Given the description of an element on the screen output the (x, y) to click on. 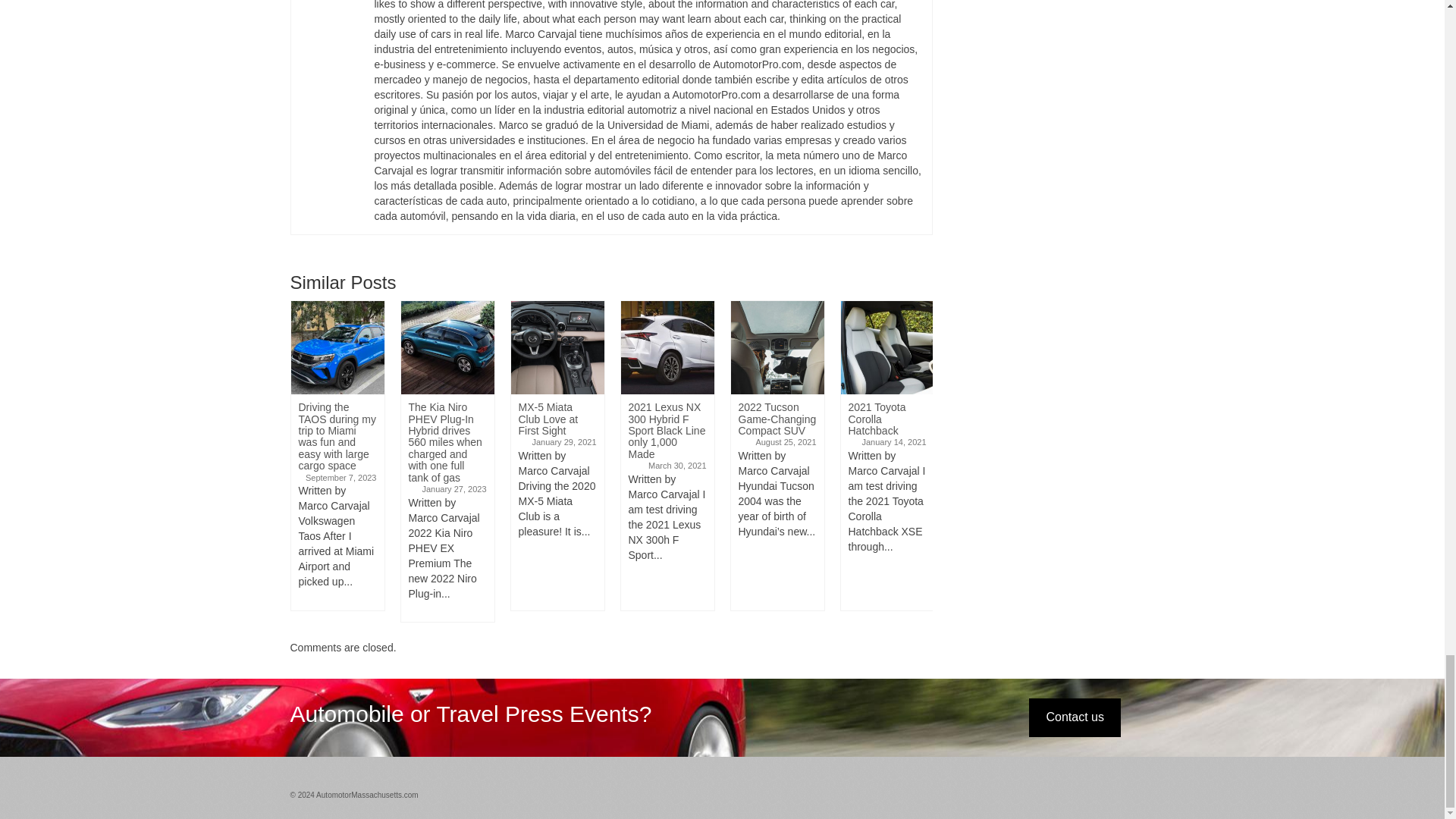
MX-5 Miata Club Love at First Sight (557, 347)
2021 Lexus NX 300 Hybrid F Sport Black Line only 1,000 Made (666, 347)
